Given the description of an element on the screen output the (x, y) to click on. 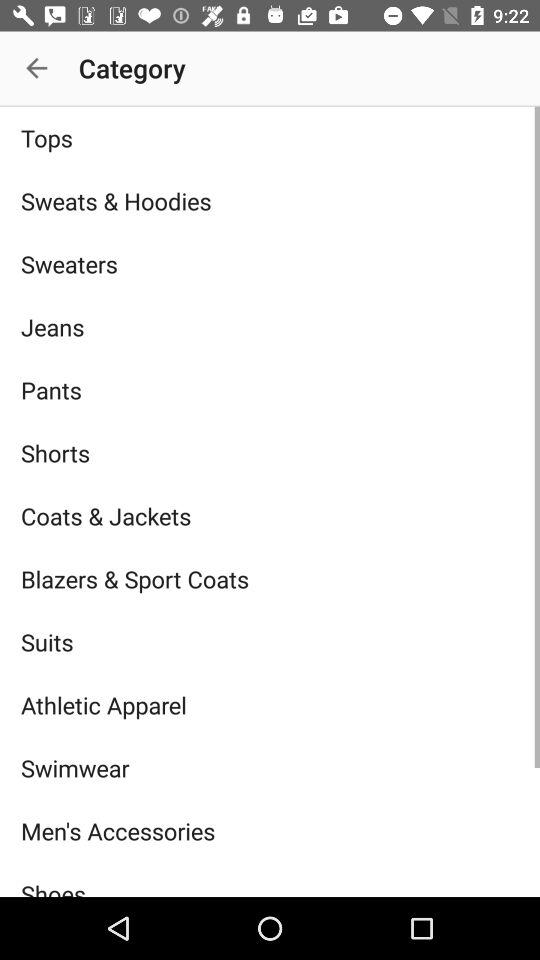
swipe until the shoes icon (270, 879)
